Given the description of an element on the screen output the (x, y) to click on. 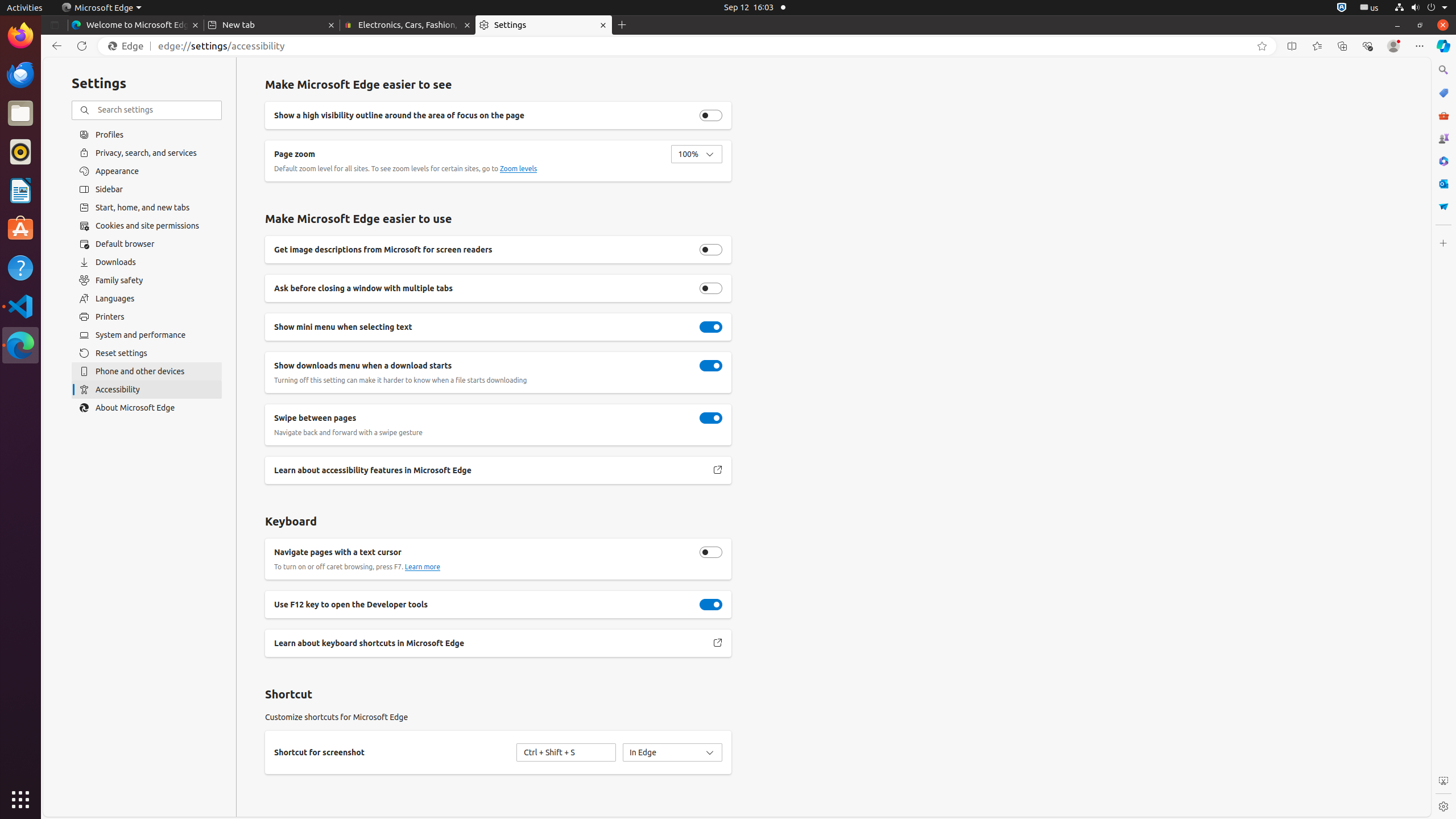
Learn about accessibility features in Microsoft Edge Element type: push-button (717, 470)
Files Element type: push-button (20, 113)
Tab actions menu Element type: push-button (54, 24)
Learn about keyboard shortcuts in Microsoft Edge Element type: push-button (717, 643)
Add this page to favorites (Ctrl+D) Element type: push-button (1261, 46)
